Given the description of an element on the screen output the (x, y) to click on. 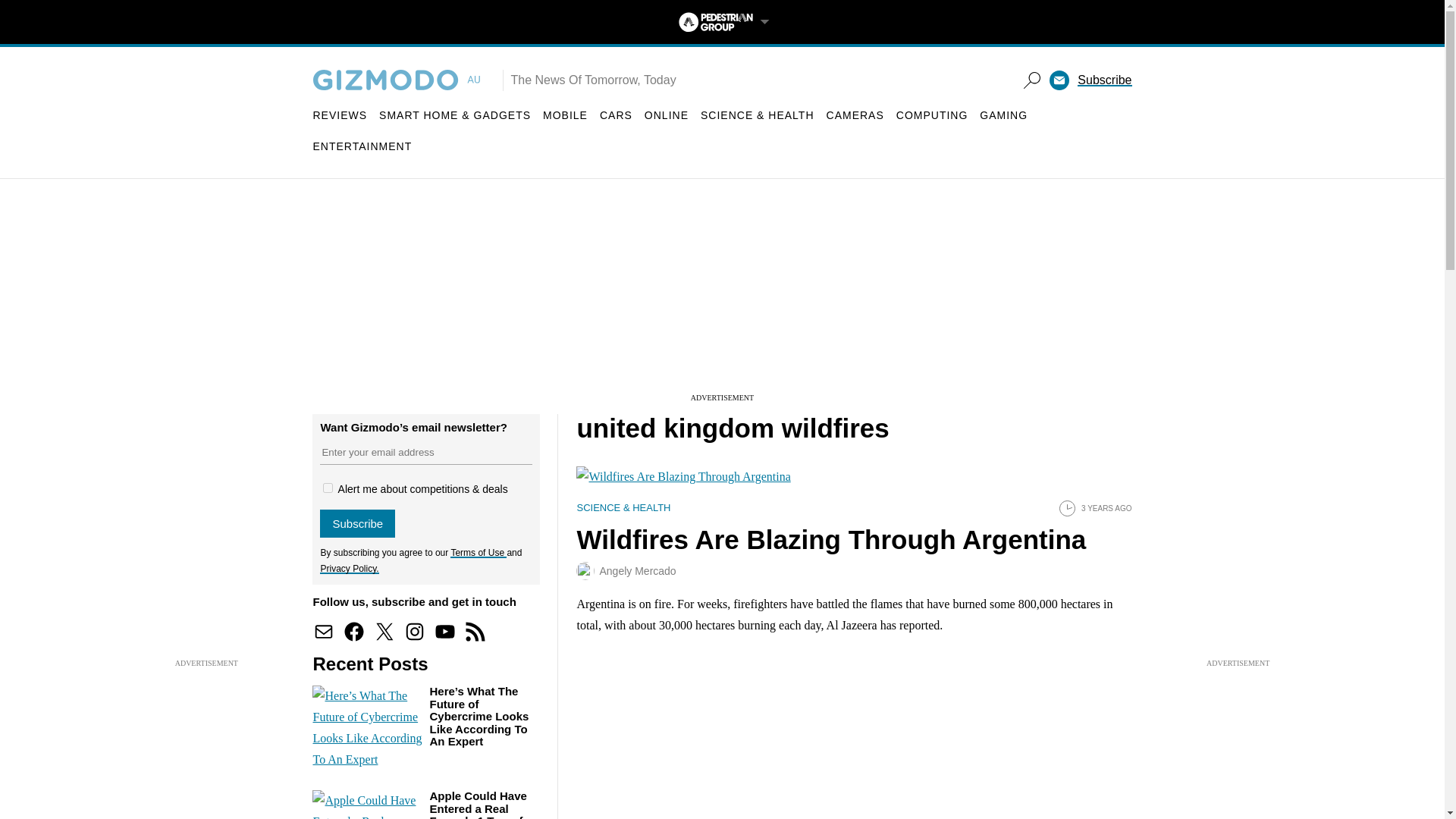
ENTERTAINMENT (362, 145)
Subscribe (357, 523)
CAMERAS (855, 115)
MOBILE (565, 115)
REVIEWS (339, 115)
ONLINE (666, 115)
Subscribe (1104, 79)
COMPUTING (932, 115)
CARS (615, 115)
GAMING (1003, 115)
